Given the description of an element on the screen output the (x, y) to click on. 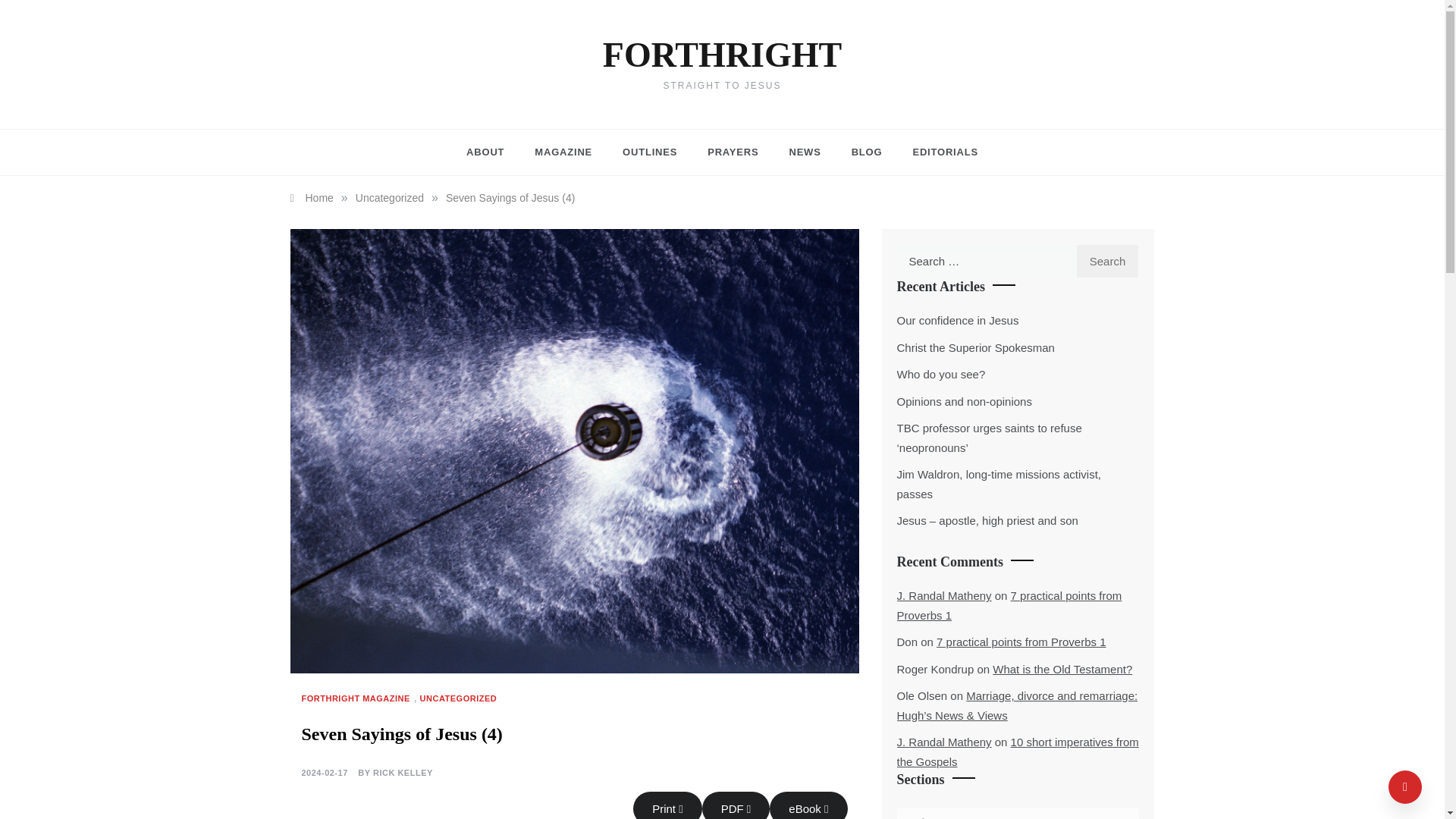
2024-02-17 (324, 773)
Go to Top (1405, 786)
Search (1107, 261)
ABOUT (492, 152)
UNCATEGORIZED (460, 698)
OUTLINES (650, 152)
BLOG (866, 152)
EDITORIALS (937, 152)
MAGAZINE (563, 152)
Uncategorized (389, 197)
